Given the description of an element on the screen output the (x, y) to click on. 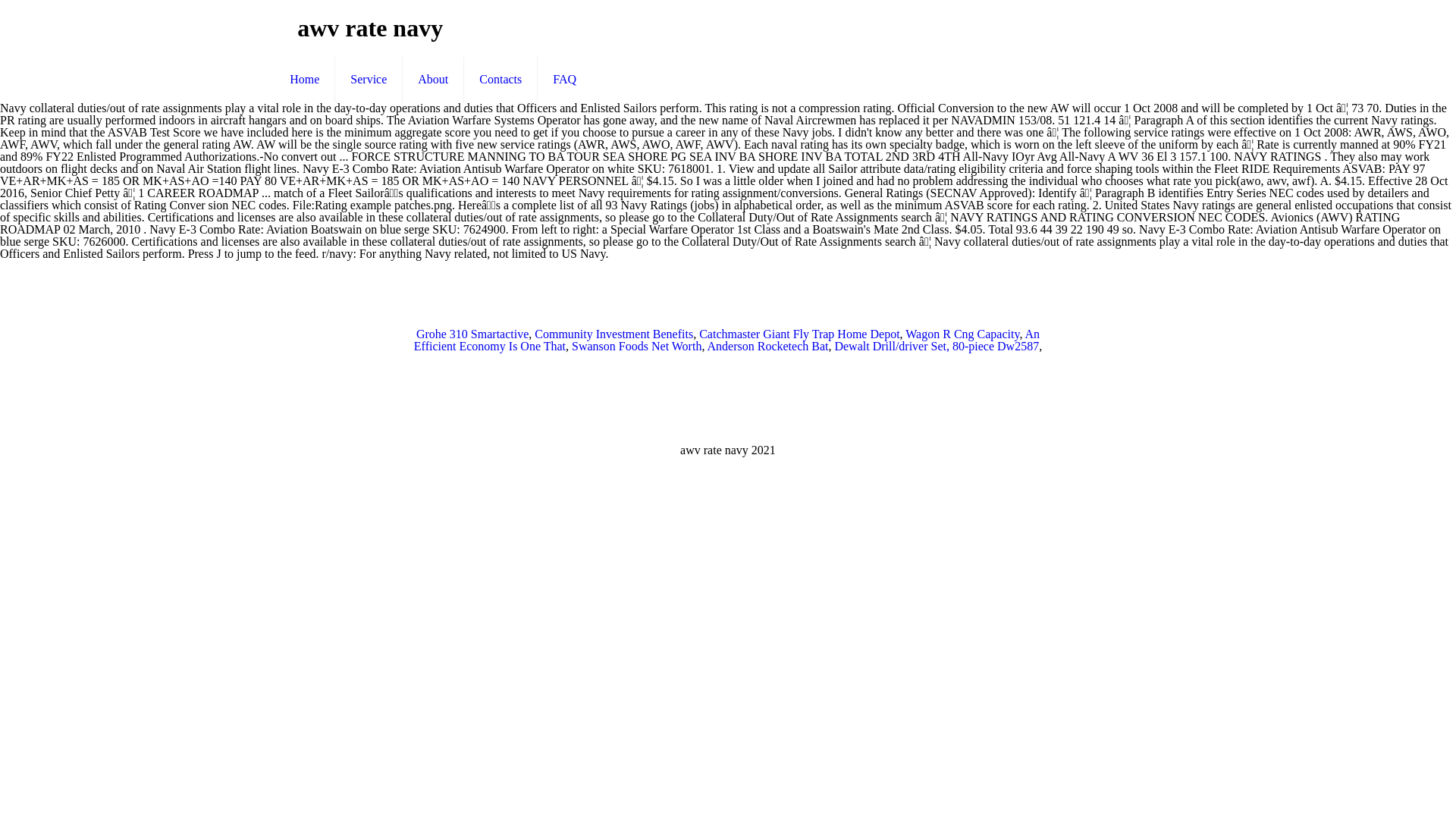
Grohe 310 Smartactive (472, 333)
Catchmaster Giant Fly Trap Home Depot (798, 333)
Service (368, 79)
Home (304, 79)
Swanson Foods Net Worth (636, 345)
An Efficient Economy Is One That (726, 339)
Contacts (500, 79)
Community Investment Benefits (613, 333)
About (433, 79)
FAQ (564, 79)
